Given the description of an element on the screen output the (x, y) to click on. 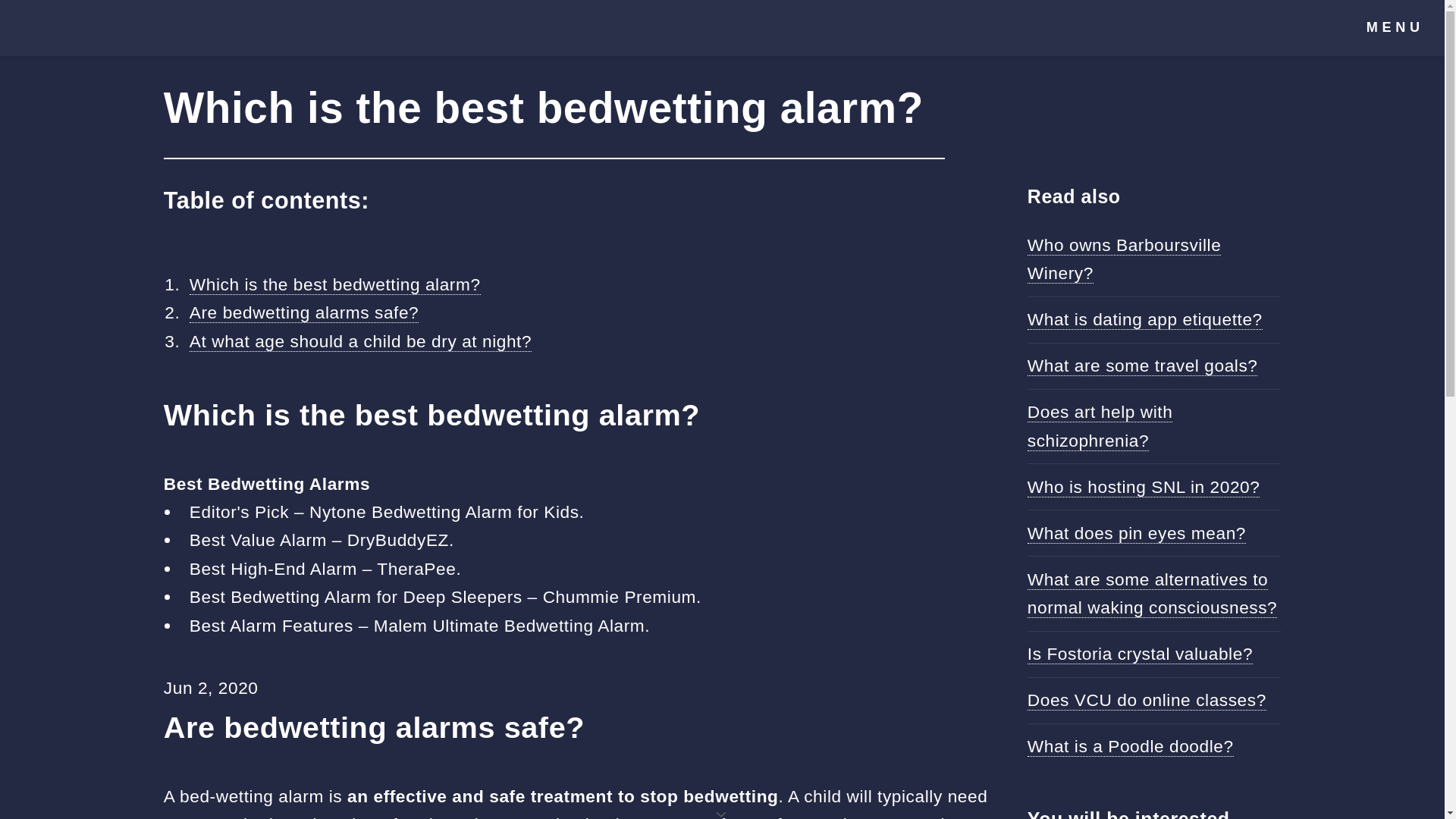
Ad.Plus Advertising (722, 813)
What is a Poodle doodle? (1130, 746)
Does art help with schizophrenia? (1100, 426)
Is Fostoria crystal valuable? (1139, 653)
What are some alternatives to normal waking consciousness? (1151, 593)
What is dating app etiquette? (1144, 319)
Who is hosting SNL in 2020? (1143, 486)
Does VCU do online classes? (1146, 700)
Who owns Barboursville Winery? (1124, 259)
Are bedwetting alarms safe? (304, 312)
What does pin eyes mean? (1136, 533)
Which is the best bedwetting alarm? (334, 284)
At what age should a child be dry at night? (360, 341)
What are some travel goals? (1142, 365)
